Given the description of an element on the screen output the (x, y) to click on. 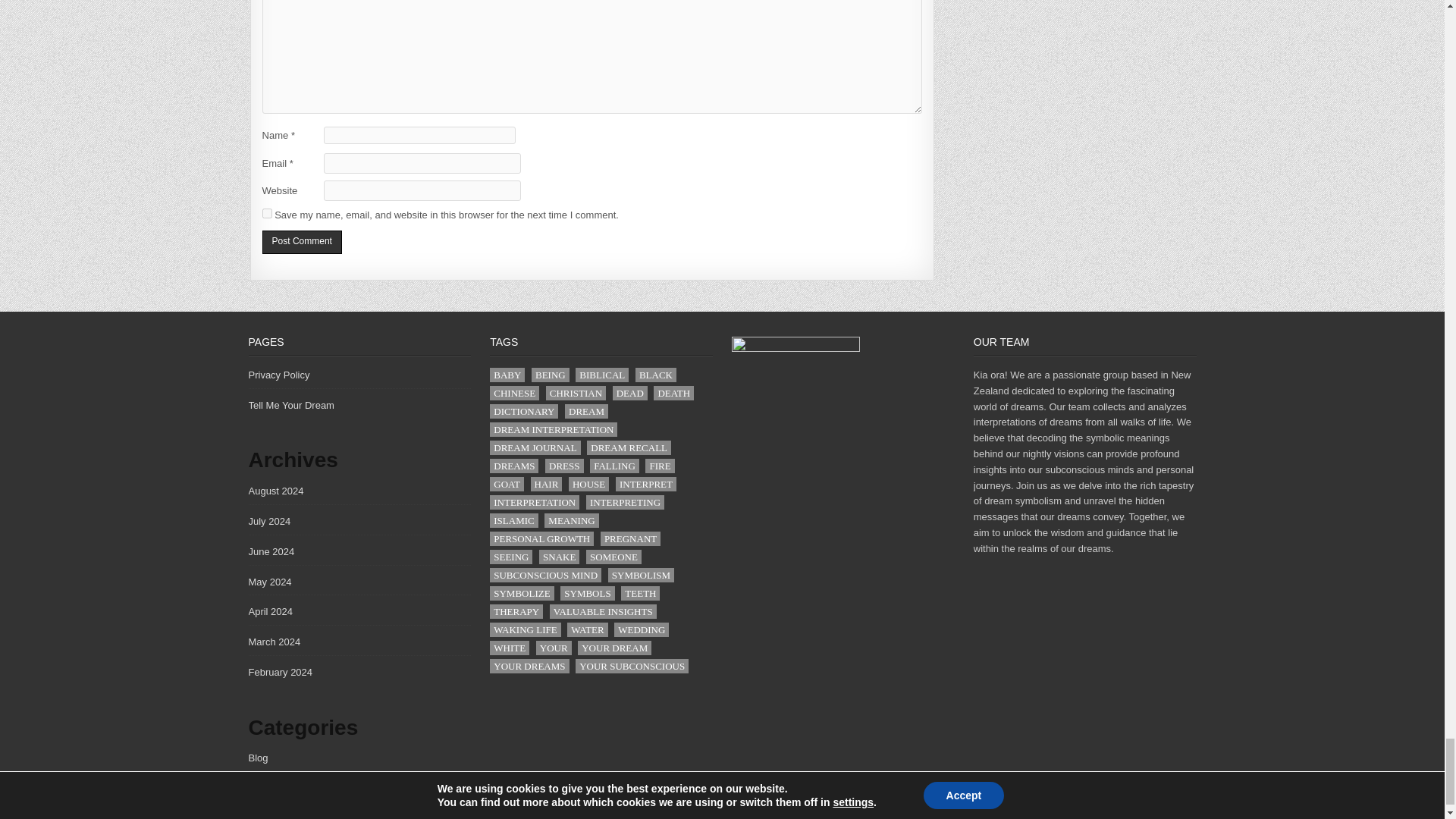
yes (267, 213)
Post Comment (302, 241)
Post Comment (302, 241)
